Given the description of an element on the screen output the (x, y) to click on. 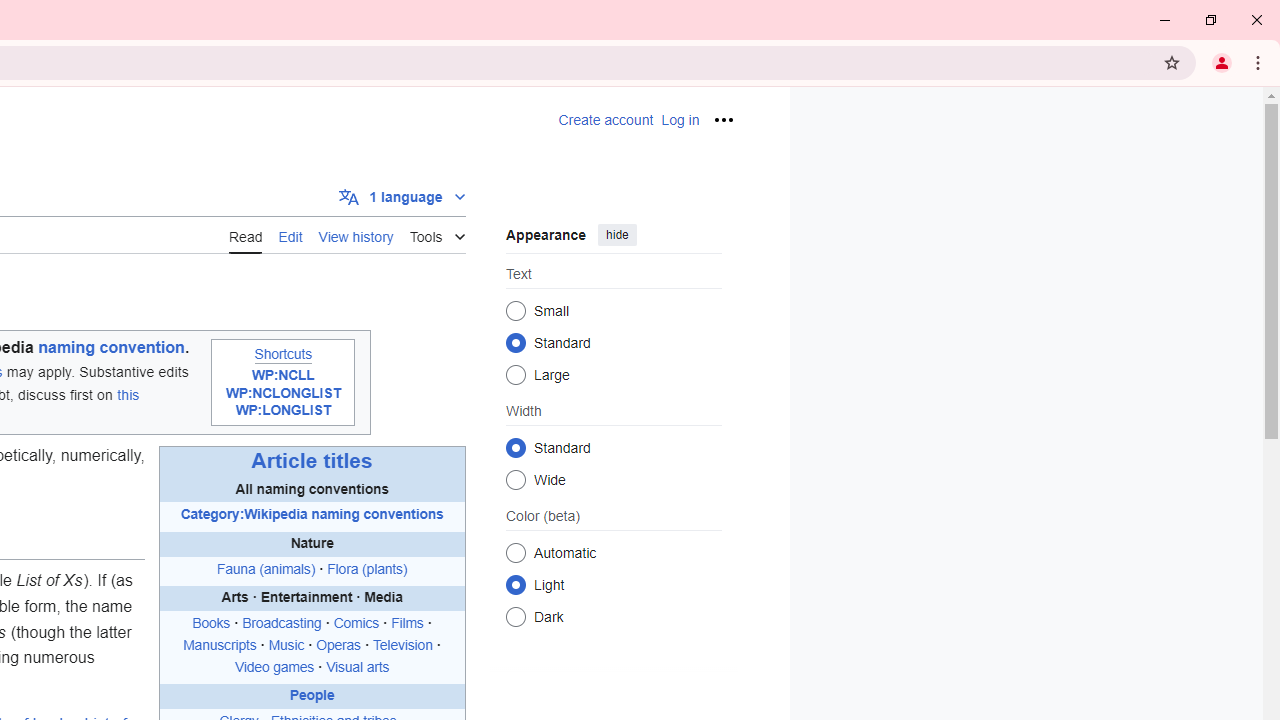
hide (616, 234)
Large (515, 374)
Light (515, 583)
Fauna (animals) (266, 568)
Shortcuts (283, 354)
People (312, 696)
Edit (290, 235)
Category:Wikipedia naming conventions (312, 514)
Read (245, 235)
Broadcasting (281, 624)
Create account (606, 120)
Comics (356, 624)
WP:NCLONGLIST (282, 393)
